Given the description of an element on the screen output the (x, y) to click on. 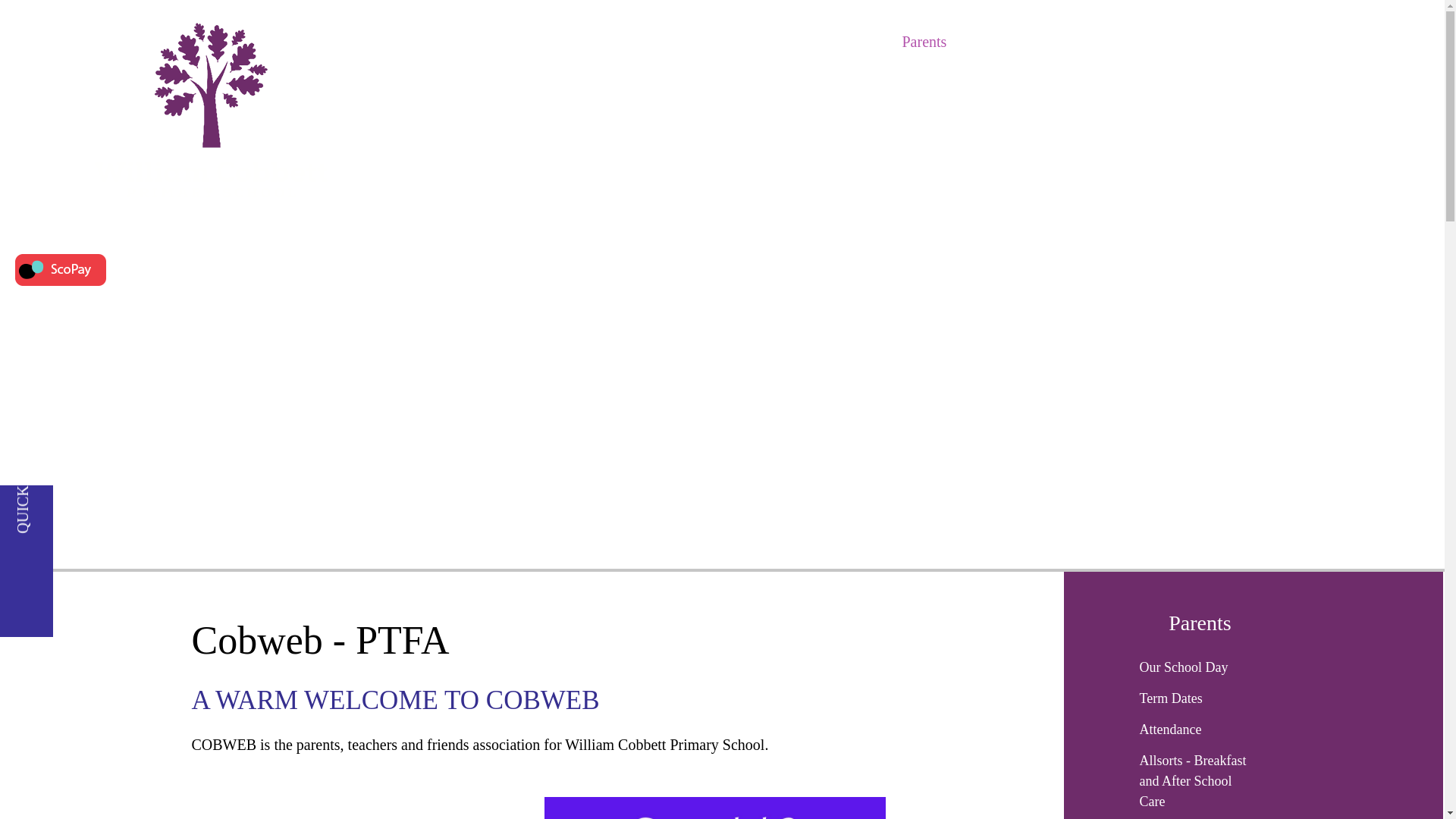
Parents (923, 41)
Our School (852, 41)
Home (783, 41)
Learning (988, 41)
